Given the description of an element on the screen output the (x, y) to click on. 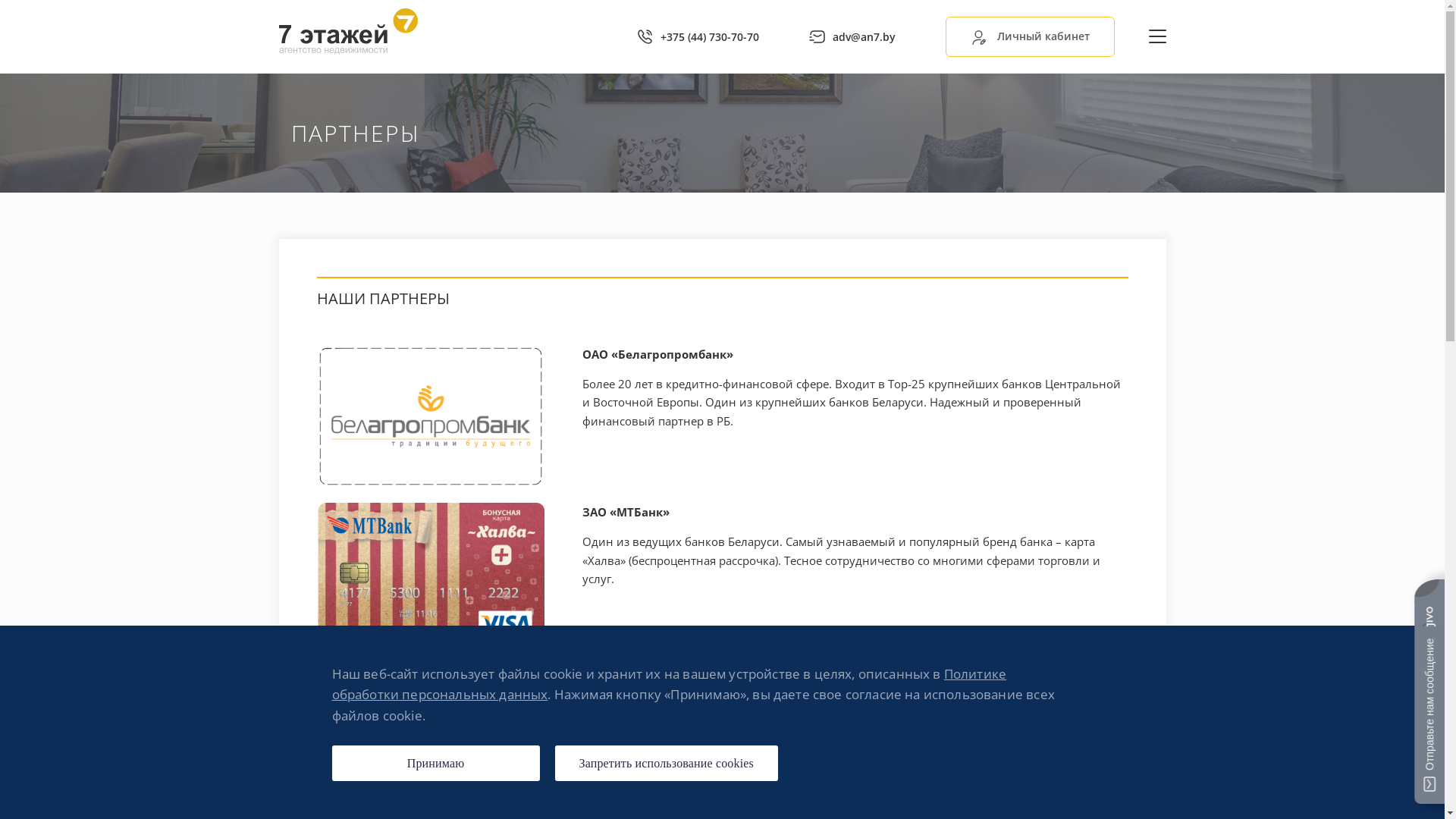
+375 (44) 730-70-70 Element type: text (698, 36)
adv@an7.by Element type: text (851, 36)
